Given the description of an element on the screen output the (x, y) to click on. 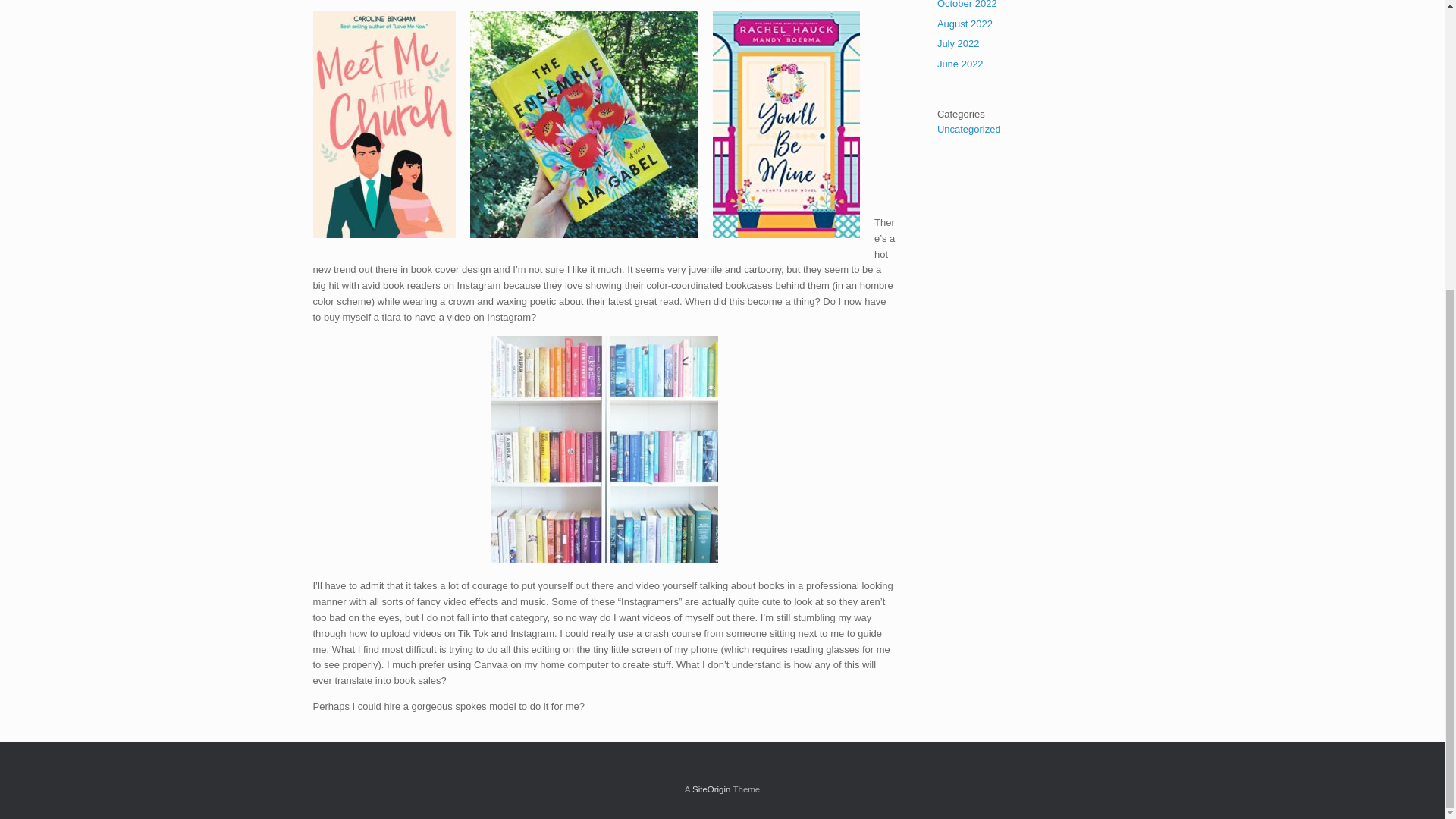
SiteOrigin (711, 788)
June 2022 (960, 63)
August 2022 (964, 23)
July 2022 (958, 43)
Uncategorized (969, 129)
October 2022 (967, 4)
